Given the description of an element on the screen output the (x, y) to click on. 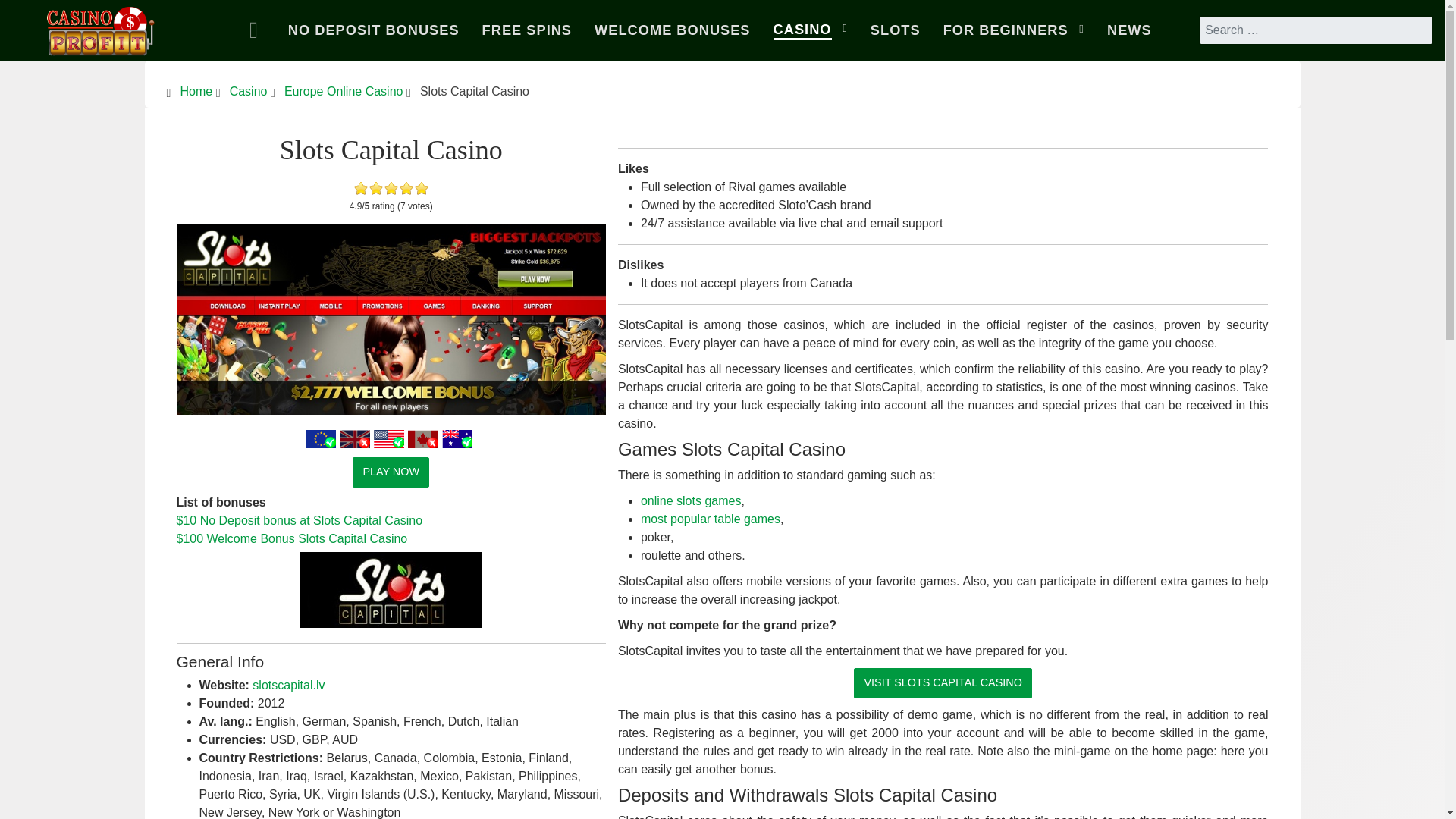
NEWS (1128, 29)
Casino (248, 91)
Home (257, 30)
slotscapital.lv (287, 684)
EU availible (320, 438)
Slots Capital Casino logo (390, 590)
online slots games (690, 500)
FREE SPINS (525, 29)
NO DEPOSIT BONUSES (373, 29)
Australia availible (456, 438)
3 out of 5 (375, 187)
SLOTS (895, 29)
Europe Online Casino (343, 91)
PLAY NOW (390, 472)
CASINO (809, 30)
